Given the description of an element on the screen output the (x, y) to click on. 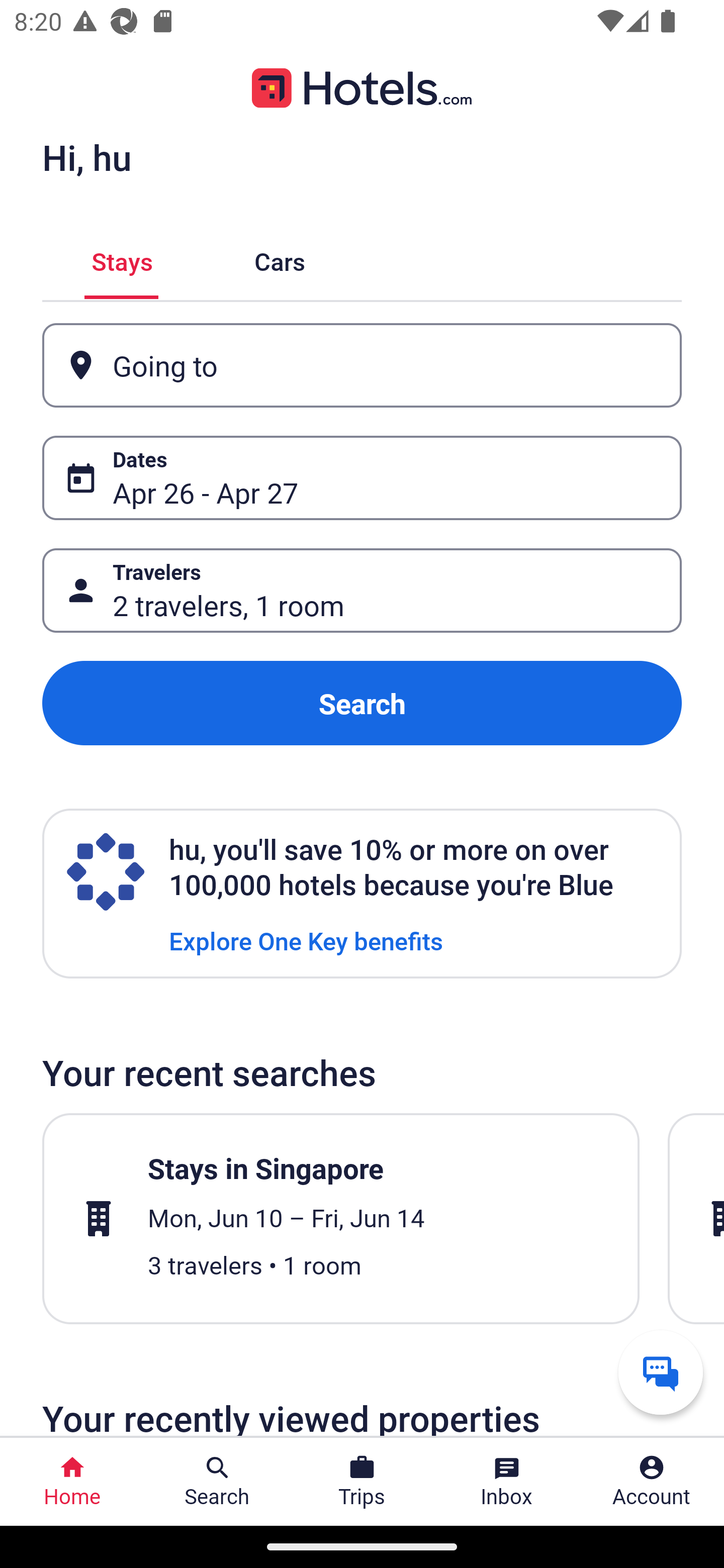
Hi, hu (86, 156)
Cars (279, 259)
Going to Button (361, 365)
Dates Button Apr 26 - Apr 27 (361, 477)
Travelers Button 2 travelers, 1 room (361, 590)
Search (361, 702)
Get help from a virtual agent (660, 1371)
Search Search Button (216, 1481)
Trips Trips Button (361, 1481)
Inbox Inbox Button (506, 1481)
Account Profile. Button (651, 1481)
